Given the description of an element on the screen output the (x, y) to click on. 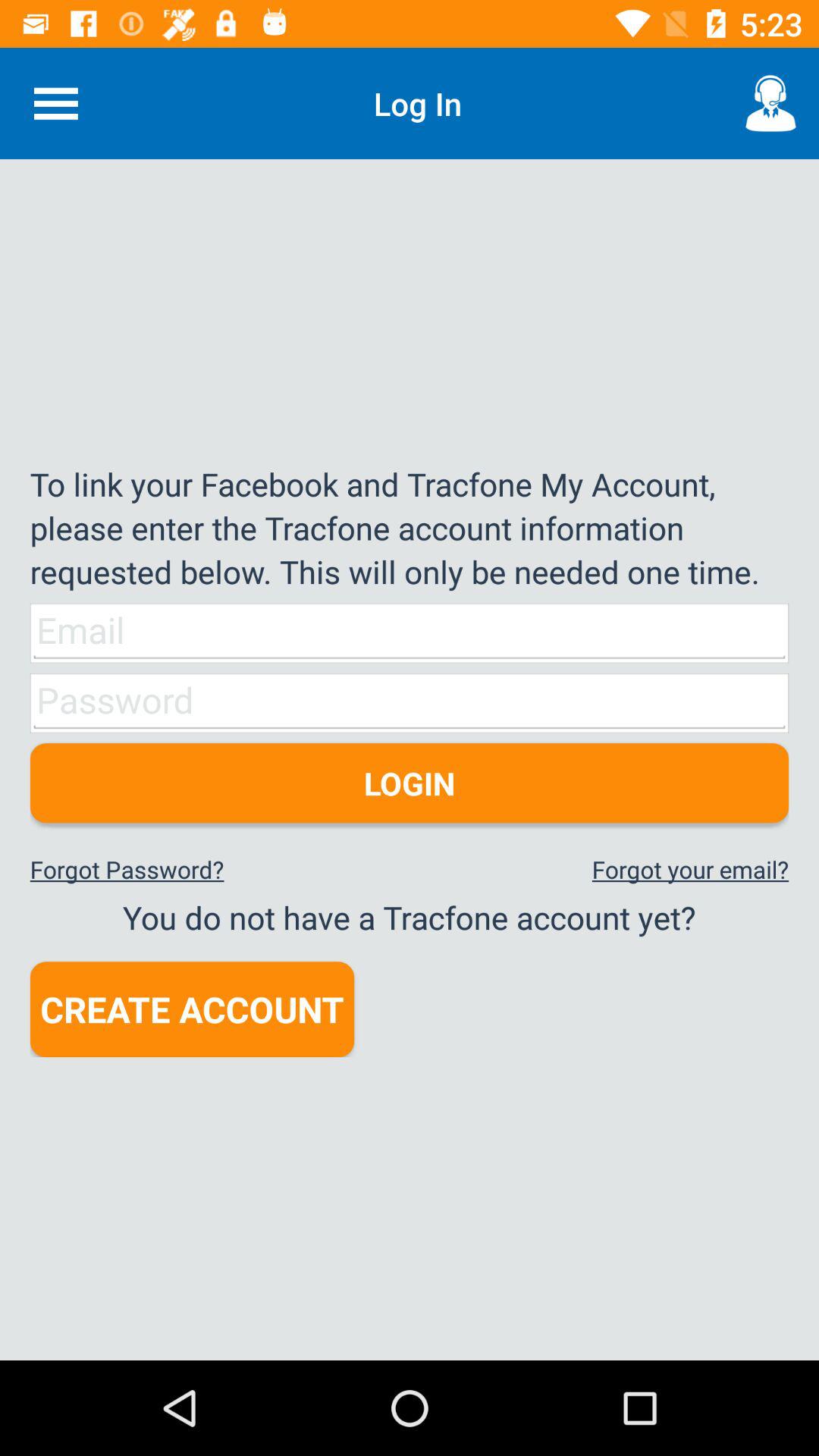
turn off the item above to link your item (771, 103)
